Given the description of an element on the screen output the (x, y) to click on. 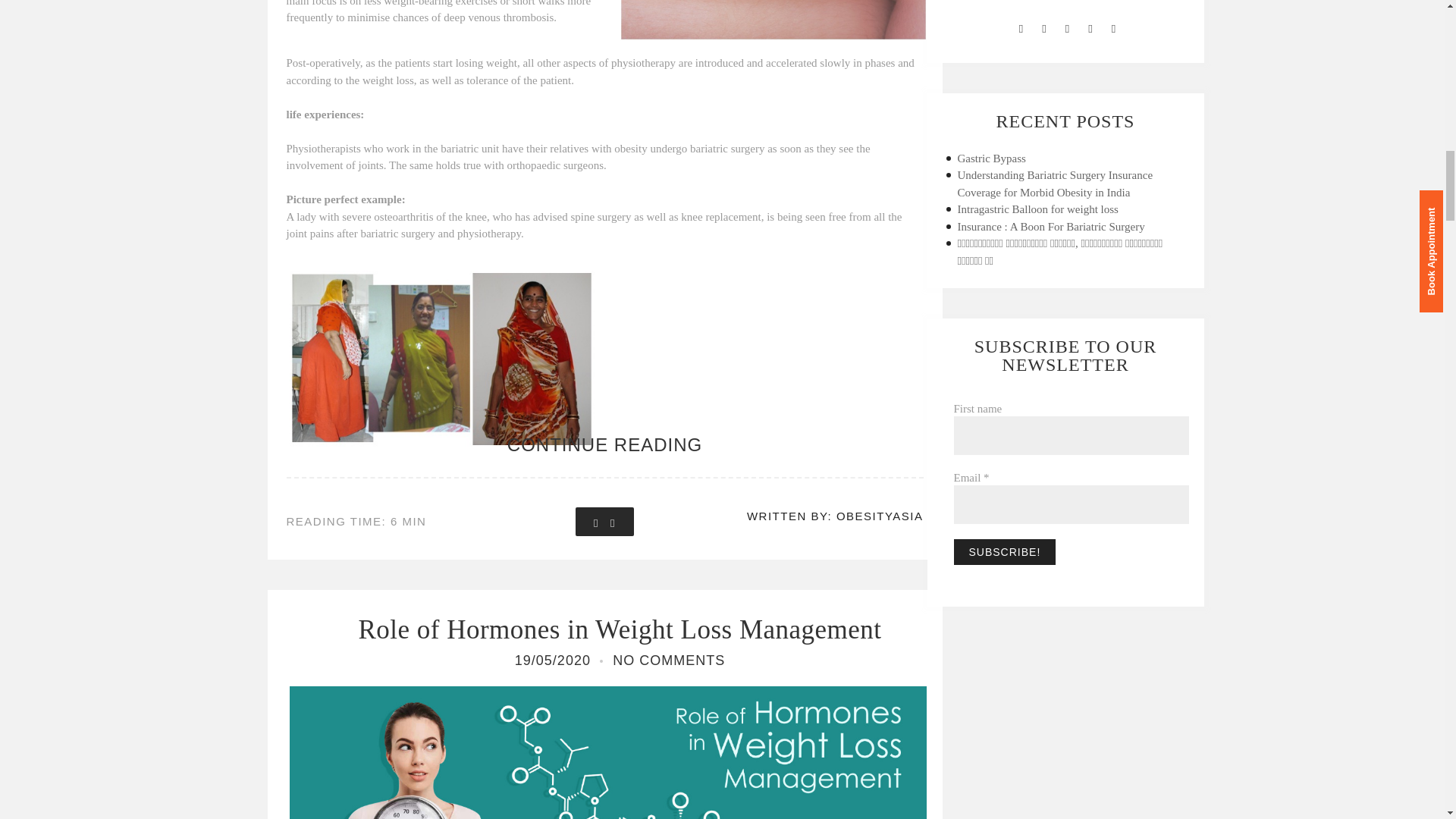
Instagram (1066, 28)
Twitter (1043, 28)
Linkedin (1089, 28)
First name (1071, 435)
Facebook (1021, 28)
Subscribe! (1005, 551)
Youtube (1113, 28)
Permanent Link to Role of Hormones in Weight Loss Management (619, 629)
